Given the description of an element on the screen output the (x, y) to click on. 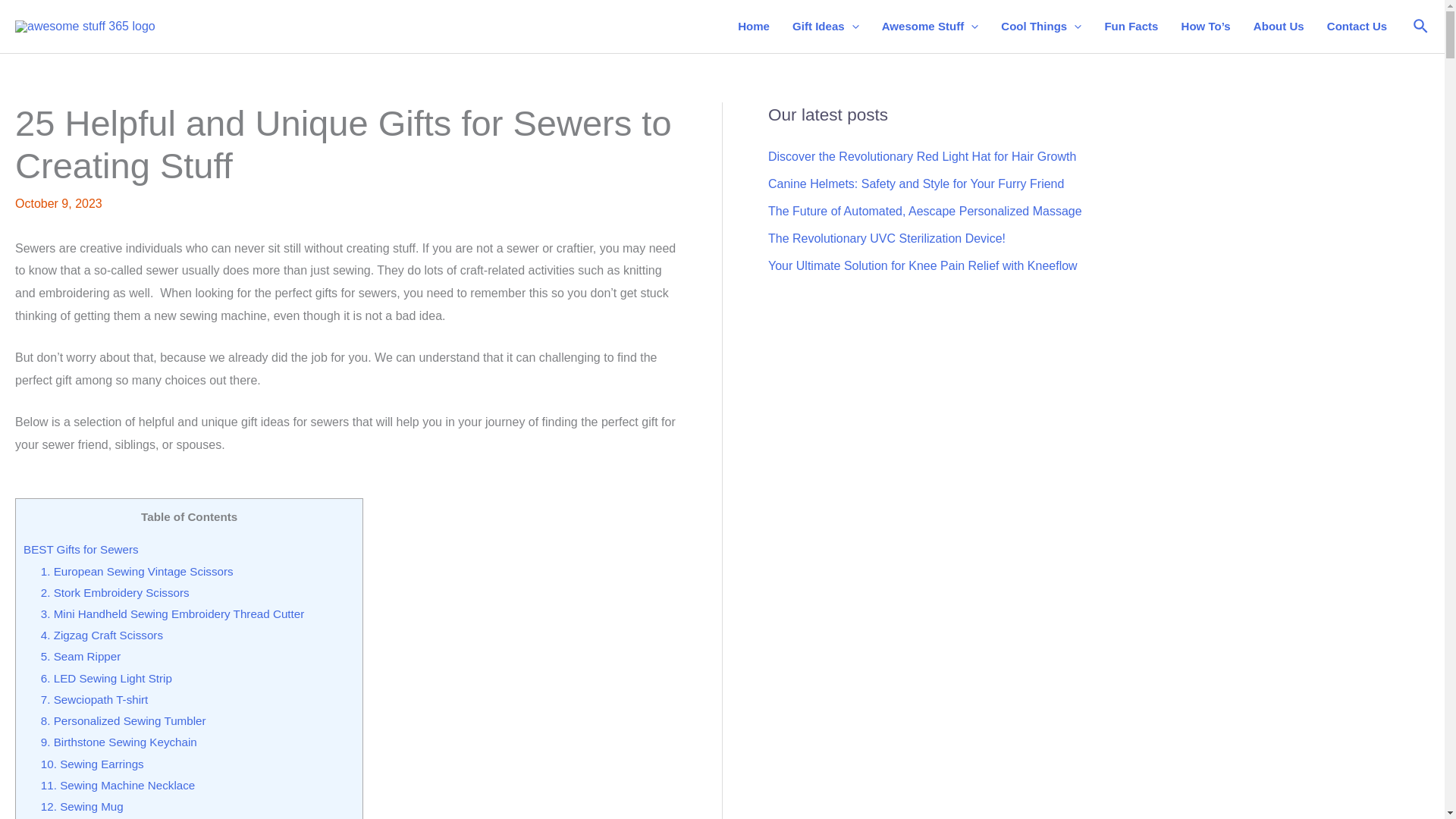
Fun Facts (1131, 26)
Awesome Stuff (930, 26)
Cool Things (1041, 26)
Gift Ideas (825, 26)
Home (753, 26)
